Given the description of an element on the screen output the (x, y) to click on. 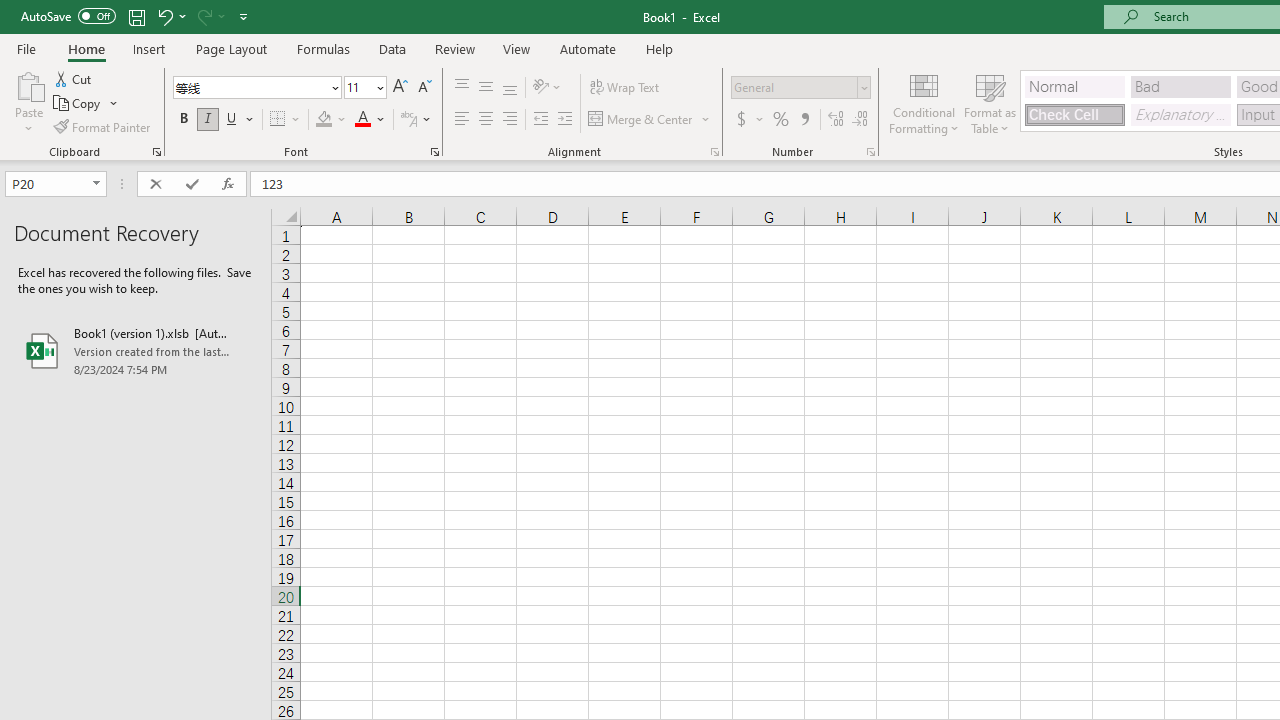
Format Cell Number (870, 151)
Cut (73, 78)
Accounting Number Format (741, 119)
Borders (285, 119)
Number Format (794, 87)
Top Align (461, 87)
Help (660, 48)
AutoSave (68, 16)
Save (136, 15)
Home (86, 48)
Decrease Indent (540, 119)
Increase Decimal (836, 119)
Bad (1180, 86)
Undo (170, 15)
Bottom Border (278, 119)
